Given the description of an element on the screen output the (x, y) to click on. 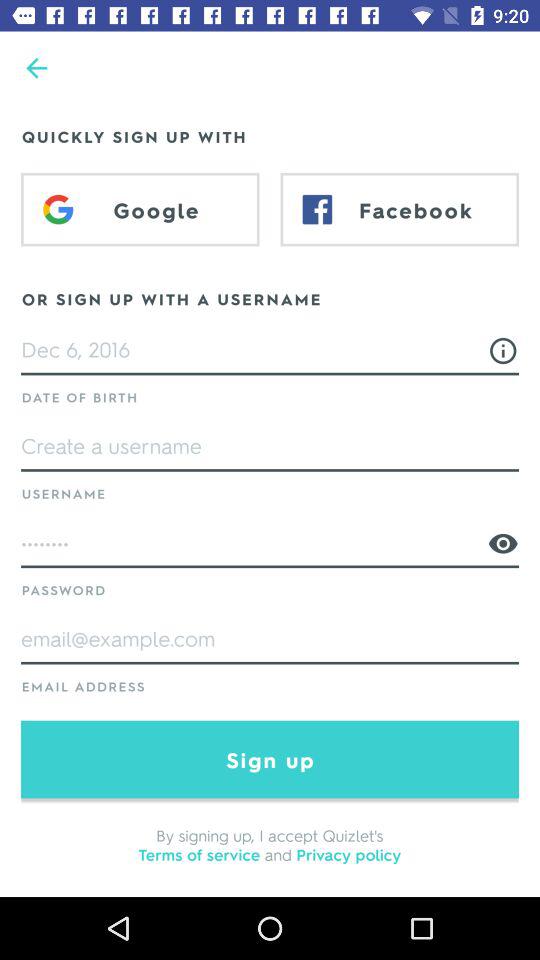
turn on facebook (399, 209)
